Given the description of an element on the screen output the (x, y) to click on. 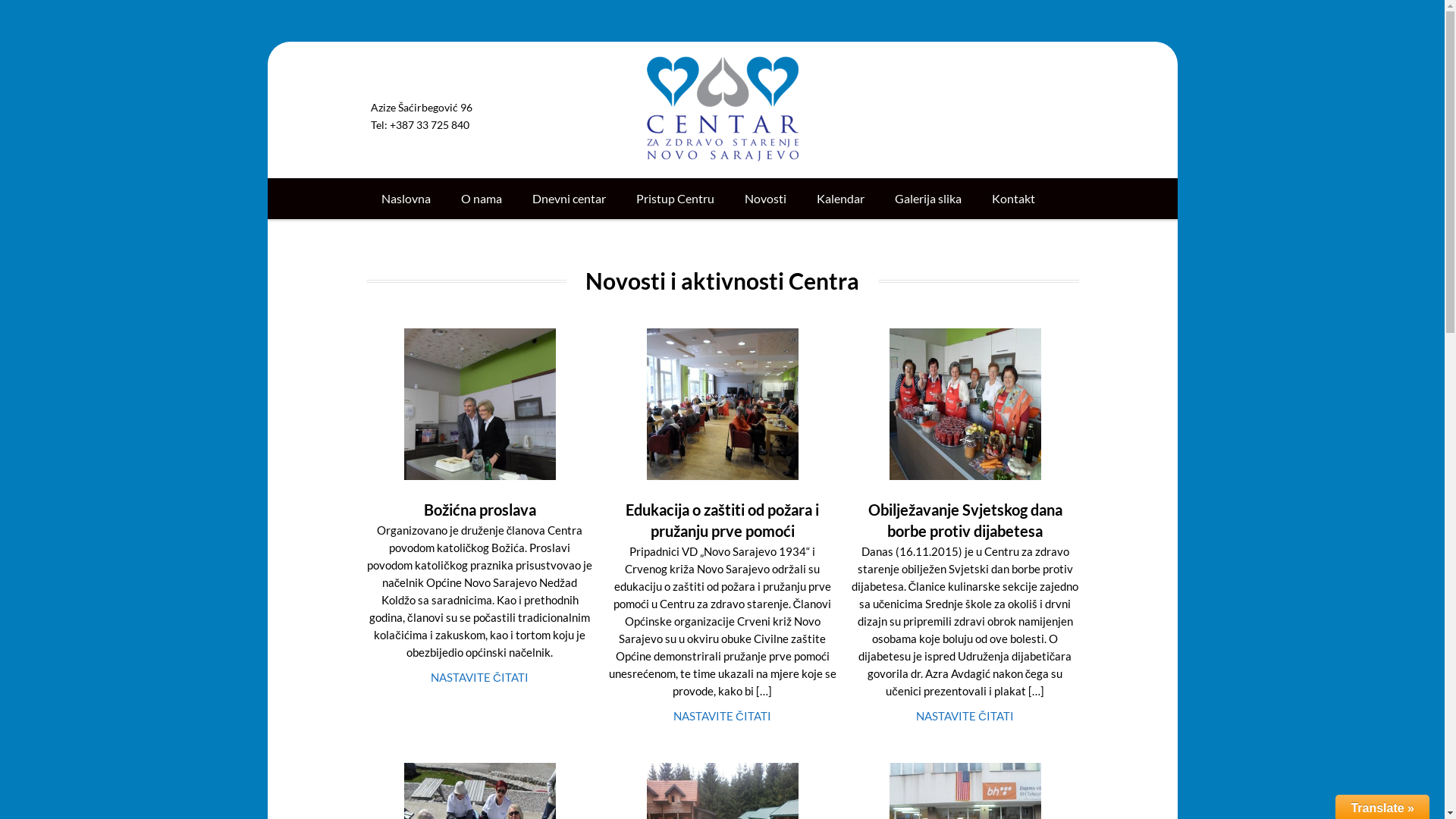
Galerija slika Element type: text (927, 198)
Kalendar Element type: text (839, 198)
Kontakt Element type: text (1013, 198)
Dnevni centar Element type: text (569, 198)
Pristup Centru Element type: text (674, 198)
O nama Element type: text (481, 198)
Naslovna Element type: text (405, 198)
Novosti Element type: text (765, 198)
